Given the description of an element on the screen output the (x, y) to click on. 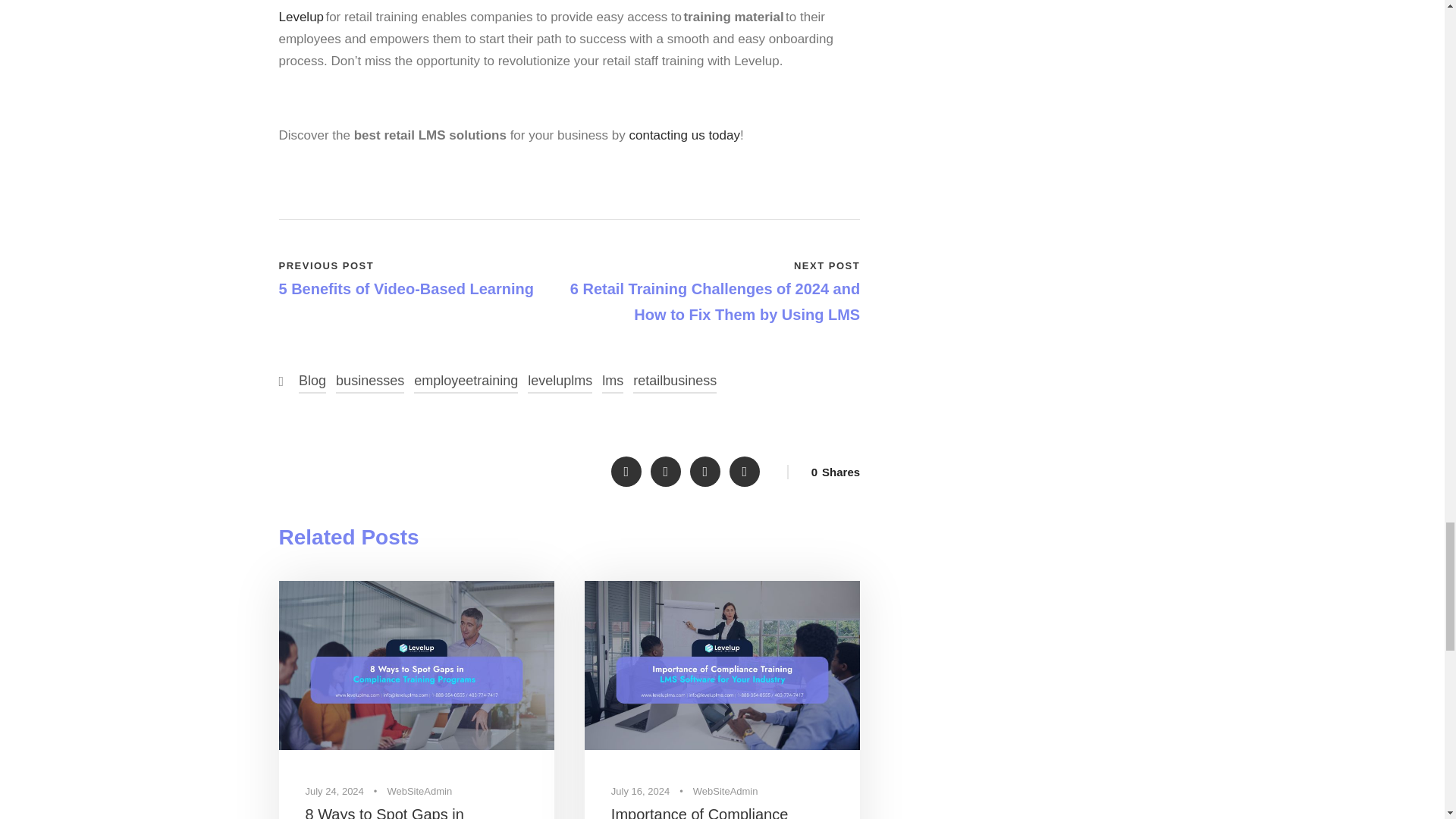
Posts by WebSiteAdmin (419, 790)
Posts by WebSiteAdmin (725, 790)
8-Ways-to-Spot-Gaps-in-Compliance-Training-Programs (416, 665)
Levelup (301, 16)
5 Benefits of Video-Based Learning (406, 289)
contacting us today (683, 134)
